Given the description of an element on the screen output the (x, y) to click on. 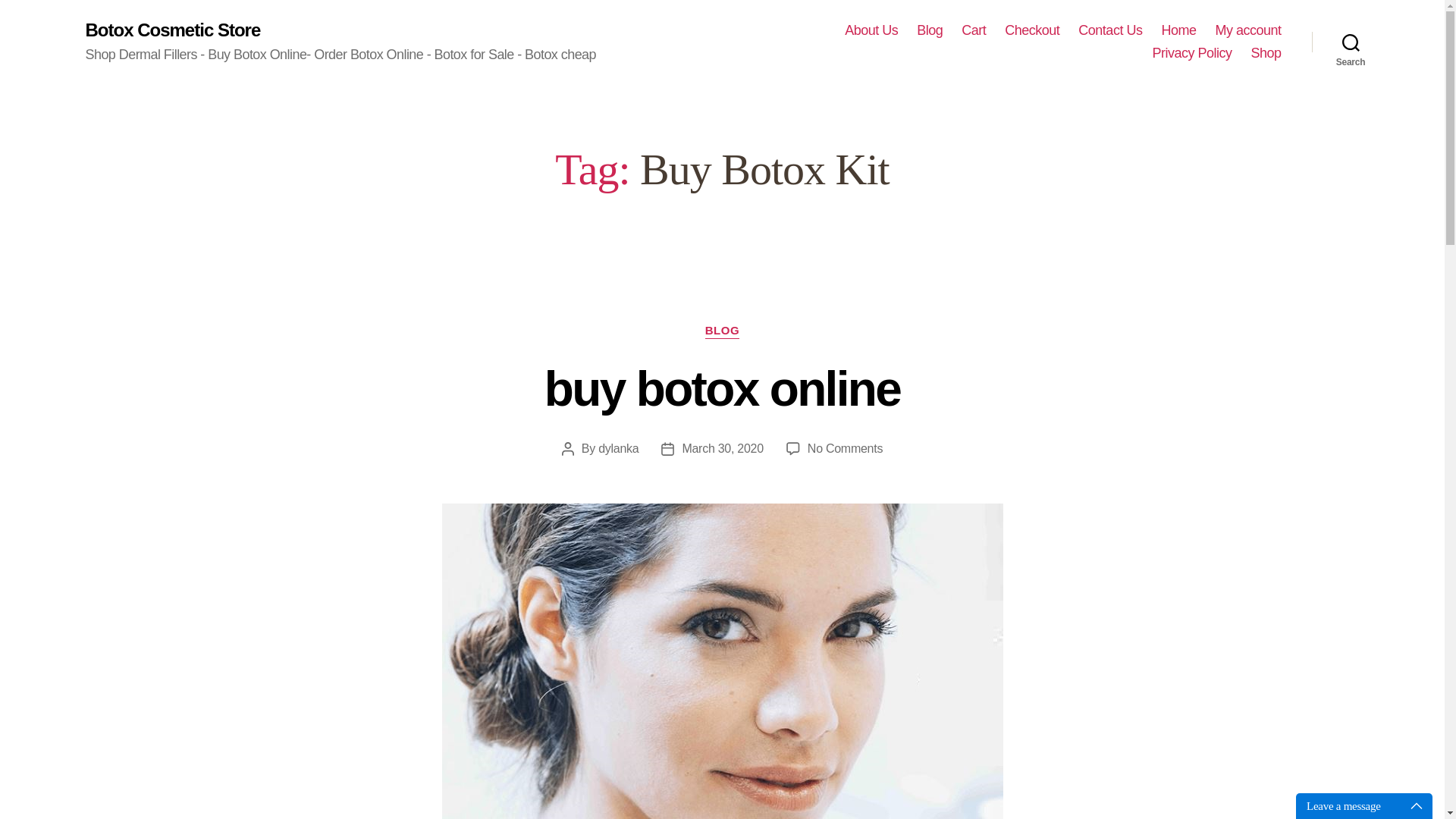
Cart (972, 30)
BLOG (721, 331)
My account (1247, 30)
dylanka (618, 448)
Blog (929, 30)
Search (1350, 41)
Maximize (1419, 805)
Contact Us (845, 448)
Privacy Policy (1109, 30)
